Given the description of an element on the screen output the (x, y) to click on. 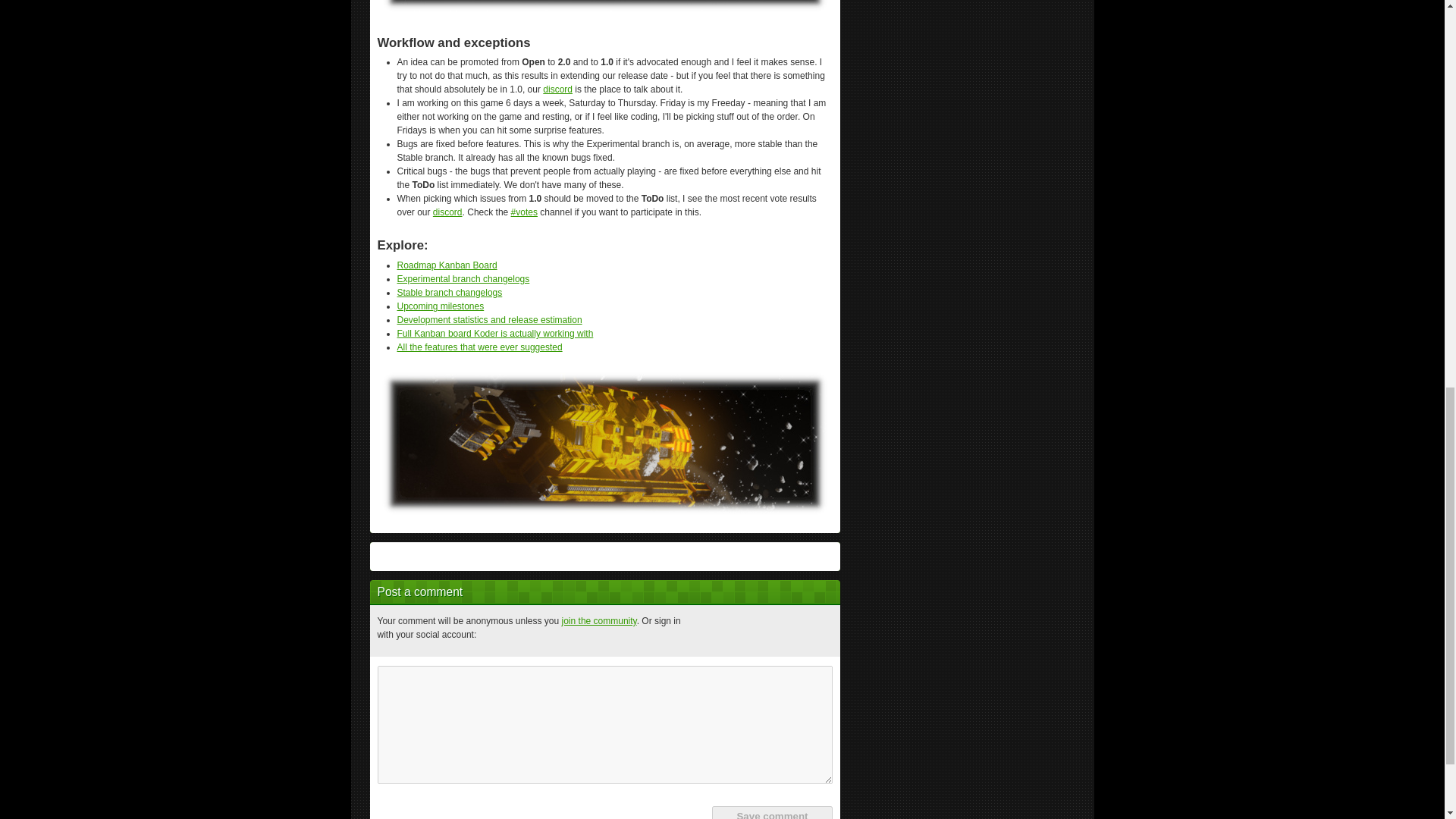
Click to connect via Google (780, 630)
Click to connect via Facebook (707, 630)
Click to connect via Steam (816, 630)
Save comment (771, 812)
Click to connect via Twitter (744, 630)
